Given the description of an element on the screen output the (x, y) to click on. 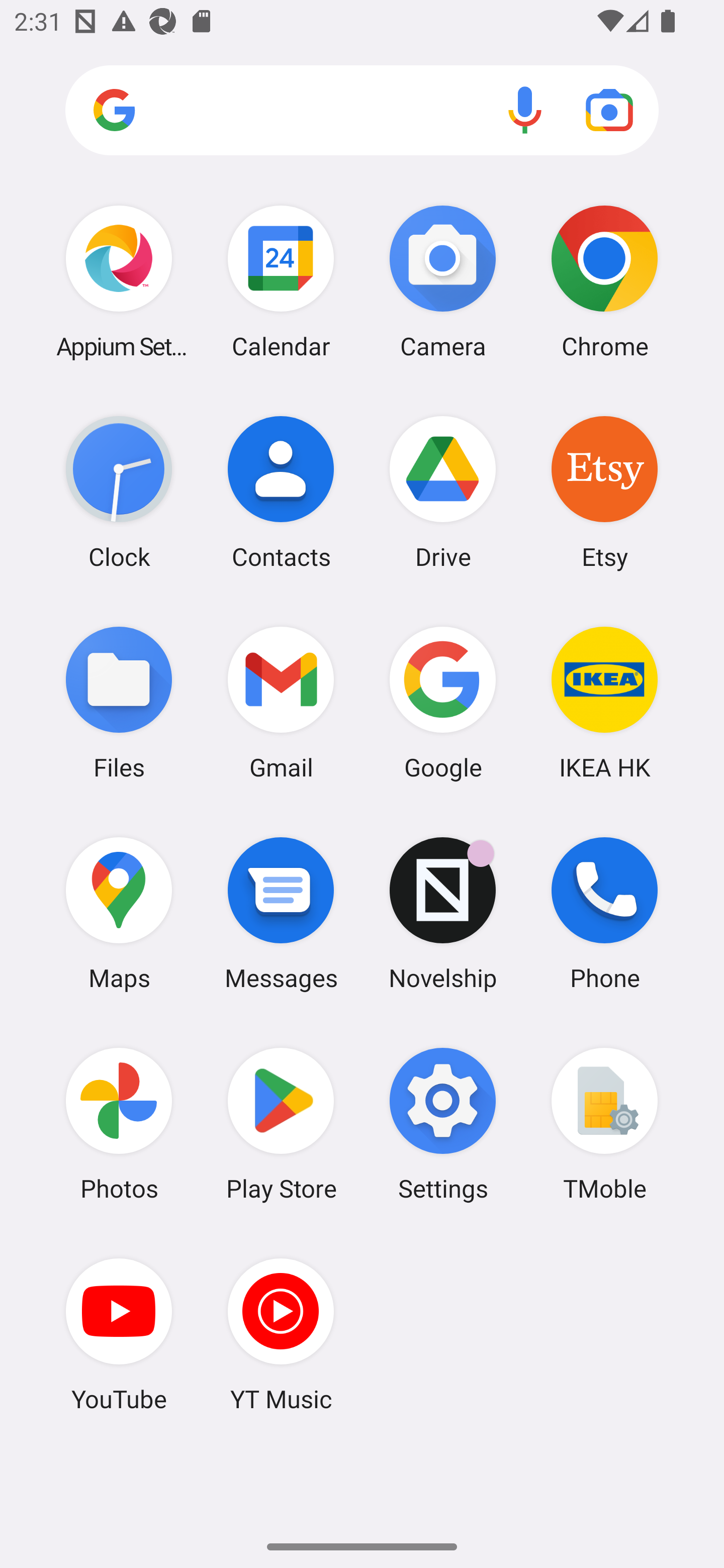
Search apps, web and more (361, 110)
Voice search (524, 109)
Google Lens (608, 109)
Appium Settings (118, 281)
Calendar (280, 281)
Camera (443, 281)
Chrome (604, 281)
Clock (118, 492)
Contacts (280, 492)
Drive (443, 492)
Etsy (604, 492)
Files (118, 702)
Gmail (280, 702)
Google (443, 702)
IKEA HK (604, 702)
Maps (118, 913)
Messages (280, 913)
Novelship Novelship has 1 notification (443, 913)
Phone (604, 913)
Photos (118, 1124)
Play Store (280, 1124)
Settings (443, 1124)
TMoble (604, 1124)
YouTube (118, 1334)
YT Music (280, 1334)
